Given the description of an element on the screen output the (x, y) to click on. 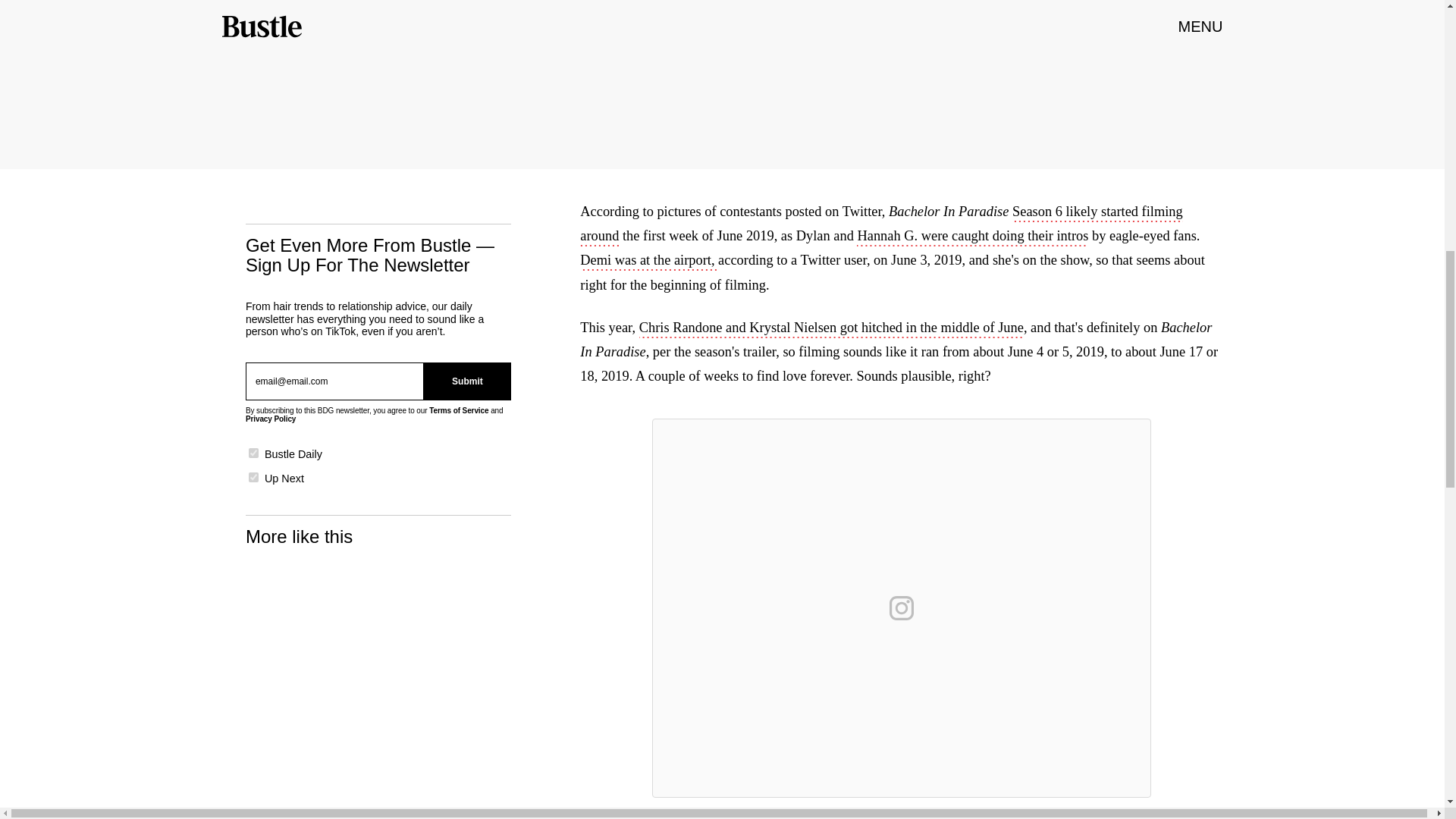
Terms of Service (458, 410)
Demi was at the airport, (648, 261)
Hannah G. were caught doing their intros (972, 237)
View on Instagram (901, 607)
Privacy Policy (270, 418)
Submit (467, 381)
Season 6 likely started filming around (880, 224)
